Given the description of an element on the screen output the (x, y) to click on. 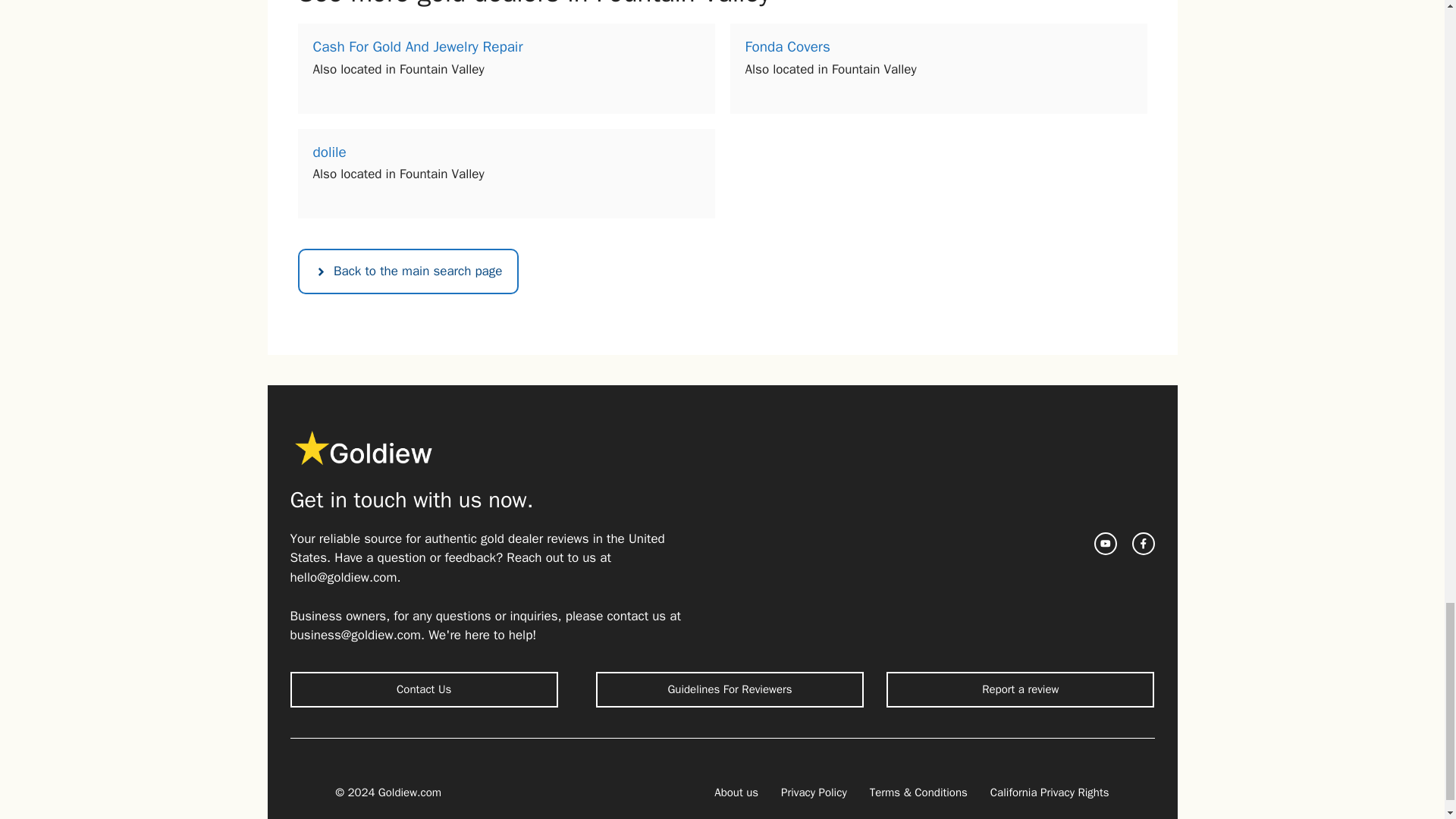
About us (736, 792)
Guidelines For Reviewers (729, 689)
Contact Us (423, 689)
Report a review (1020, 689)
Back to the main search page (407, 271)
dolile (329, 152)
Goldiew white logo (363, 447)
Cash For Gold And Jewelry Repair (417, 46)
Fonda Covers (786, 46)
Privacy Policy (813, 792)
